Given the description of an element on the screen output the (x, y) to click on. 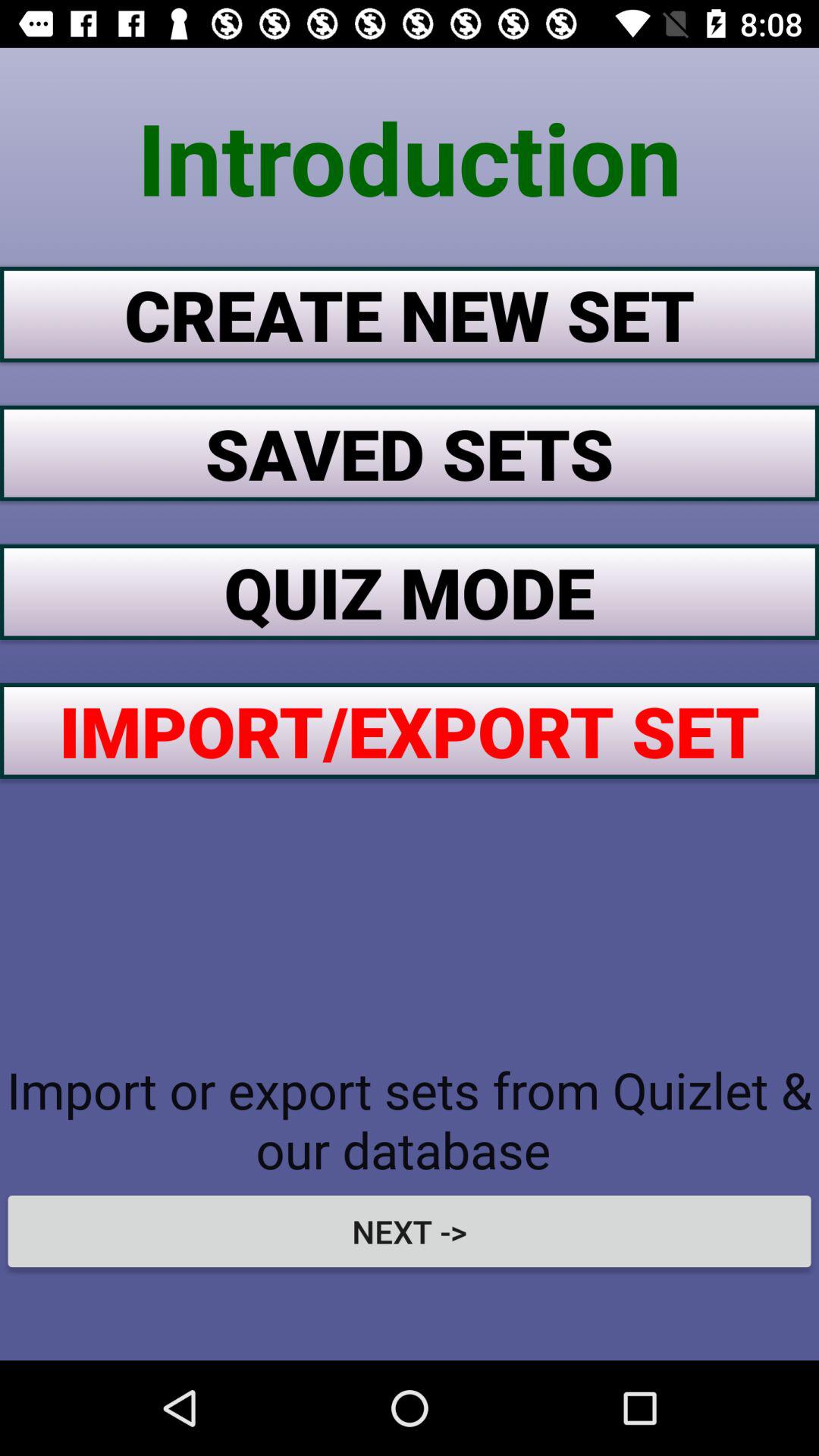
open quiz mode button (409, 591)
